Given the description of an element on the screen output the (x, y) to click on. 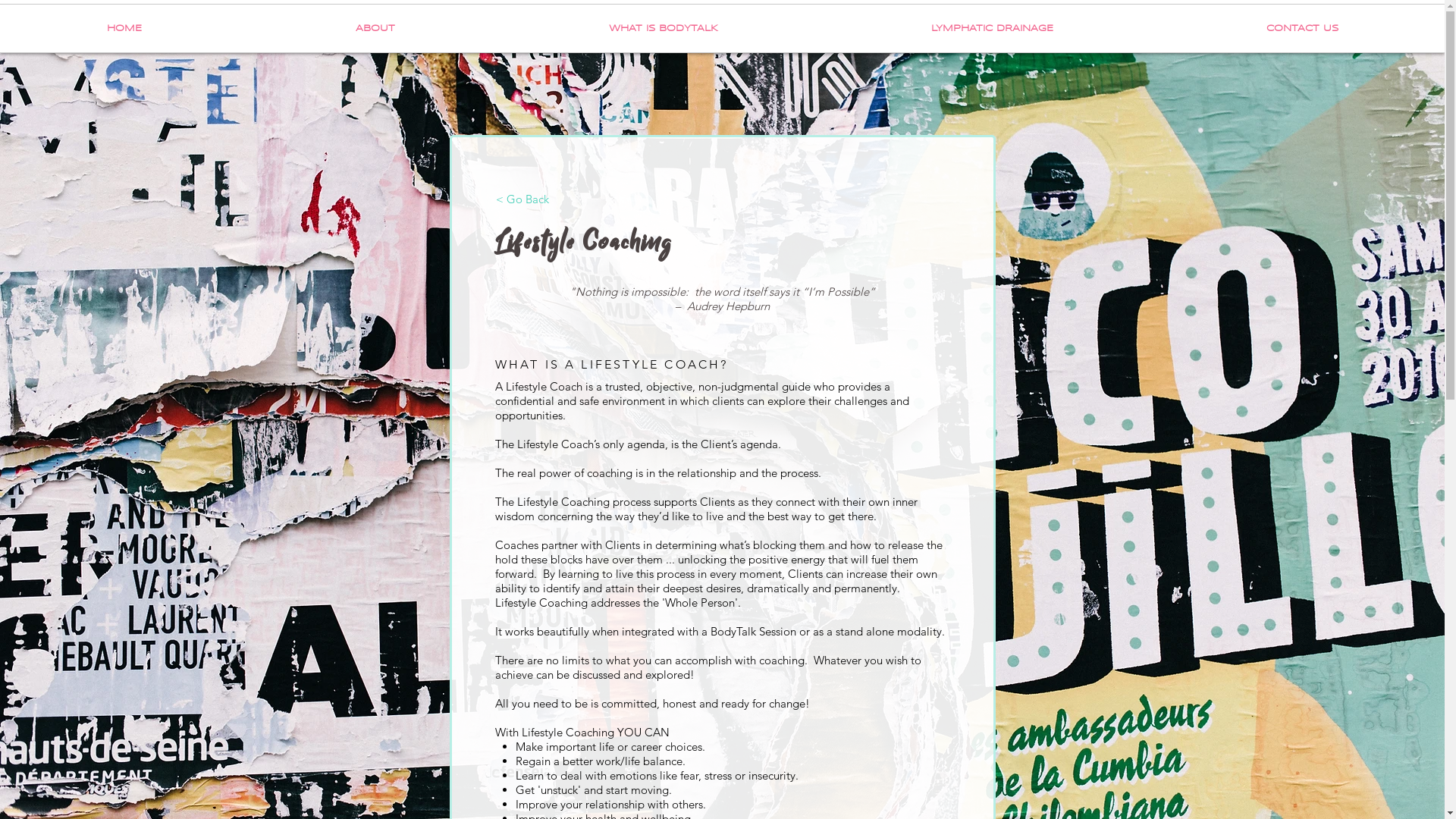
CONTACT US Element type: text (1301, 28)
ABOUT Element type: text (375, 28)
HOME Element type: text (124, 28)
LYMPHATIC DRAINAGE Element type: text (991, 28)
WHAT IS BODYTALK Element type: text (663, 28)
< Go Back Element type: text (521, 198)
